Given the description of an element on the screen output the (x, y) to click on. 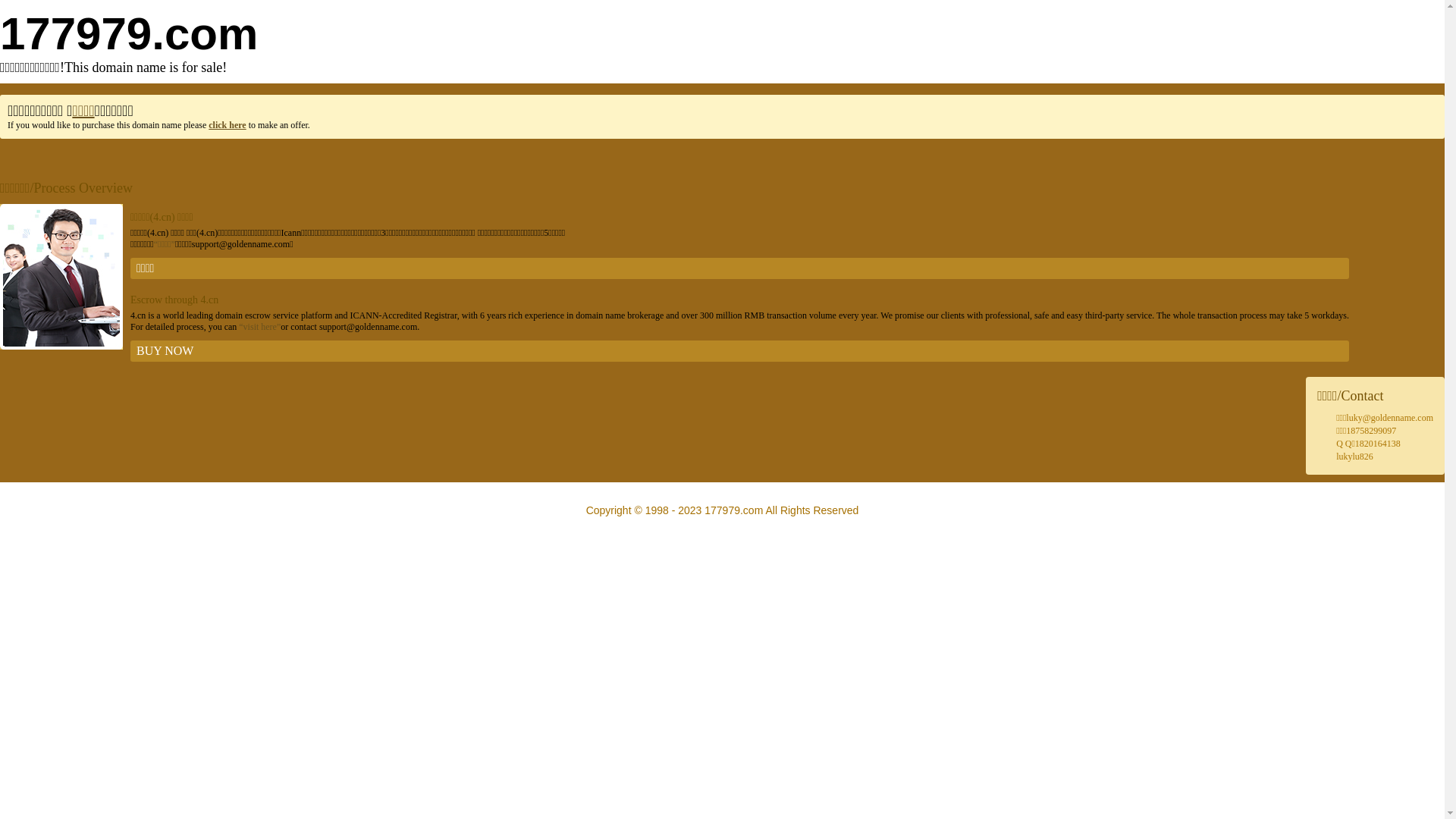
click here Element type: text (226, 124)
BUY NOW Element type: text (739, 350)
